Given the description of an element on the screen output the (x, y) to click on. 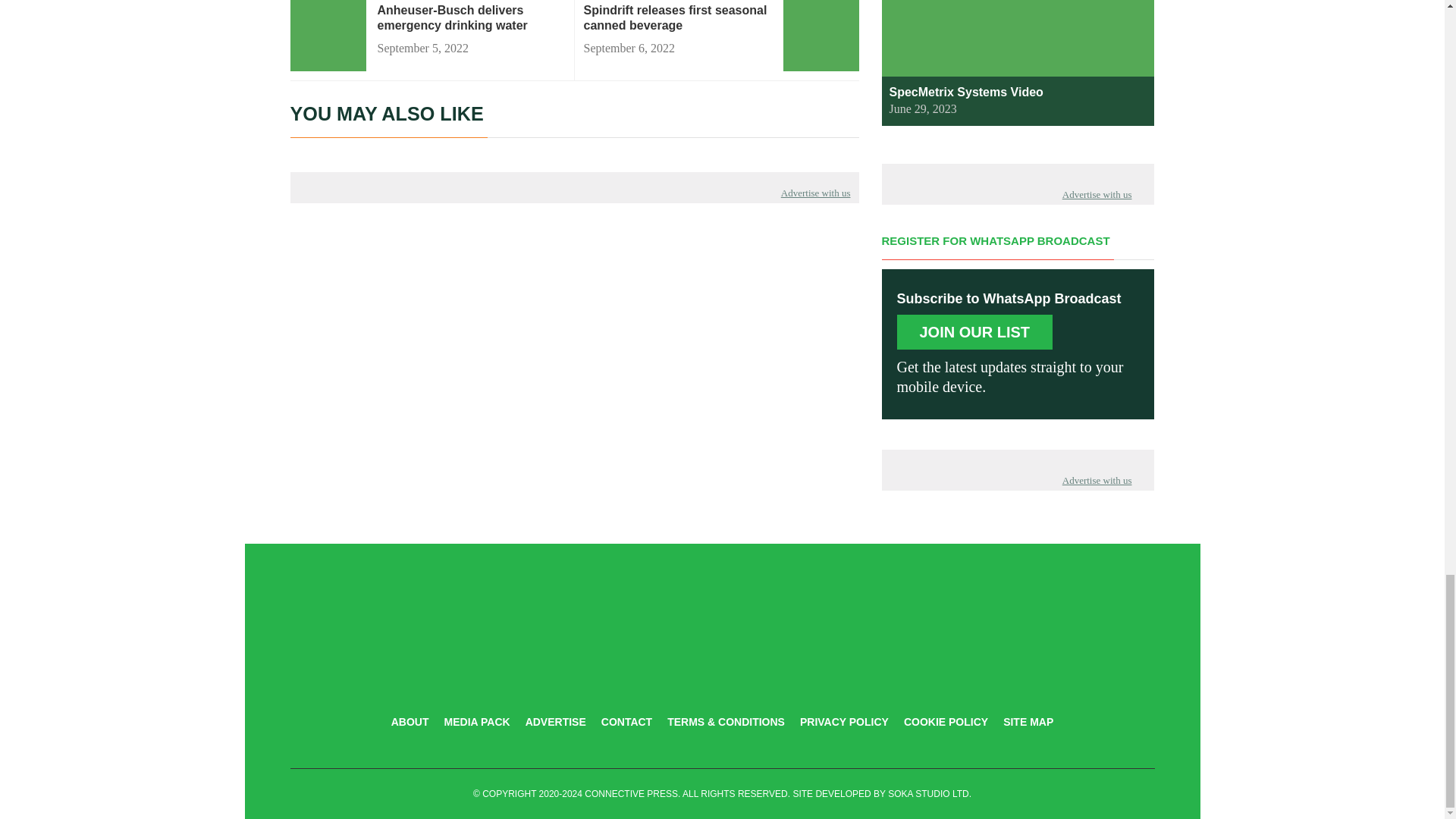
Anheuser-Busch delivers emergency drinking water (470, 18)
prev post (677, 18)
Spindrift releases first seasonal canned beverage (677, 18)
prev post (470, 18)
